Given the description of an element on the screen output the (x, y) to click on. 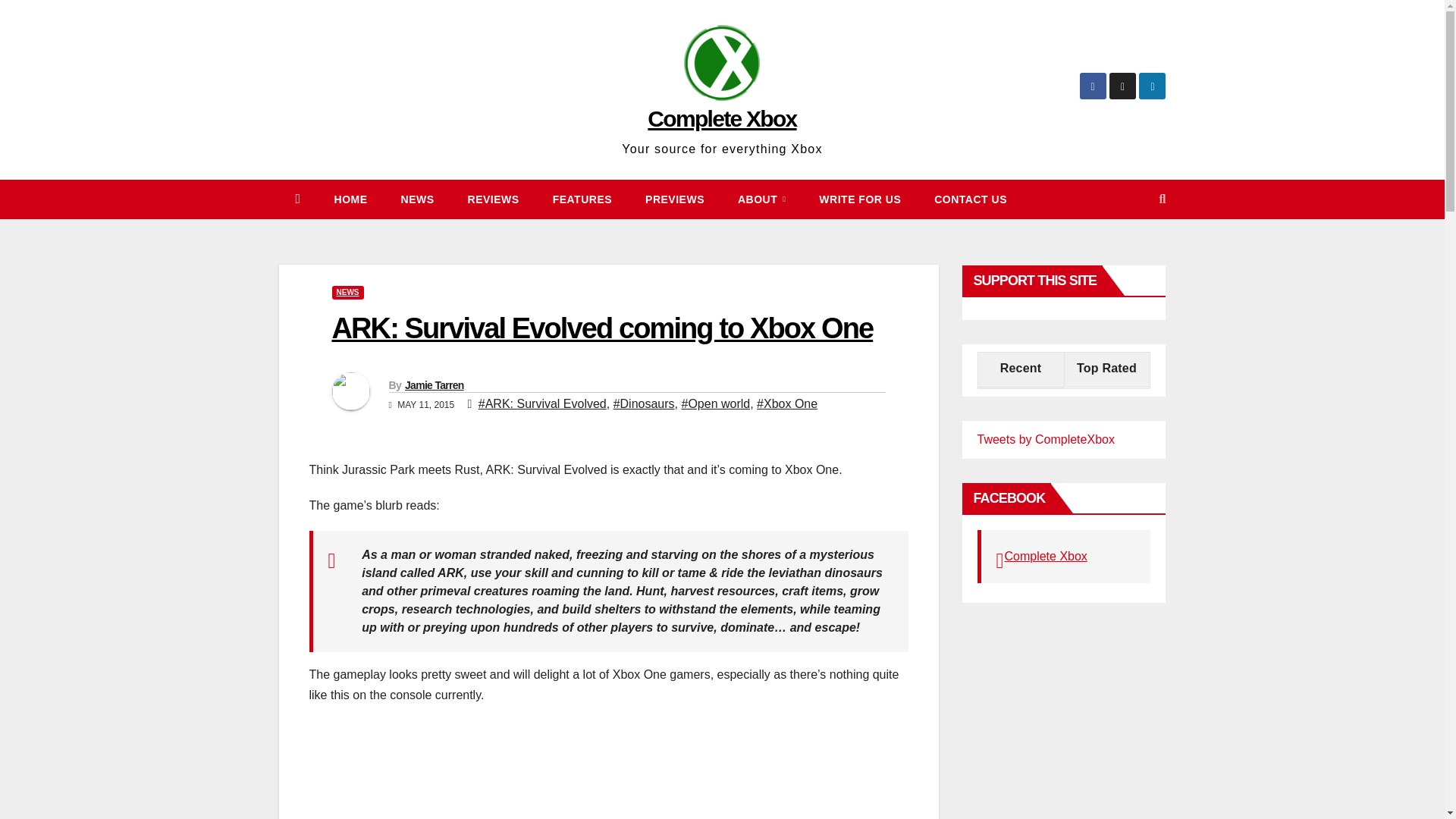
FEATURES (581, 199)
HOME (350, 199)
Jamie Tarren (434, 385)
NEWS (347, 292)
NEWS (417, 199)
REVIEWS (493, 199)
YouTube player (551, 769)
About (761, 199)
Complete Xbox (721, 118)
Features (581, 199)
CONTACT US (970, 199)
Contact us (970, 199)
Previews (674, 199)
PREVIEWS (674, 199)
Reviews (493, 199)
